Given the description of an element on the screen output the (x, y) to click on. 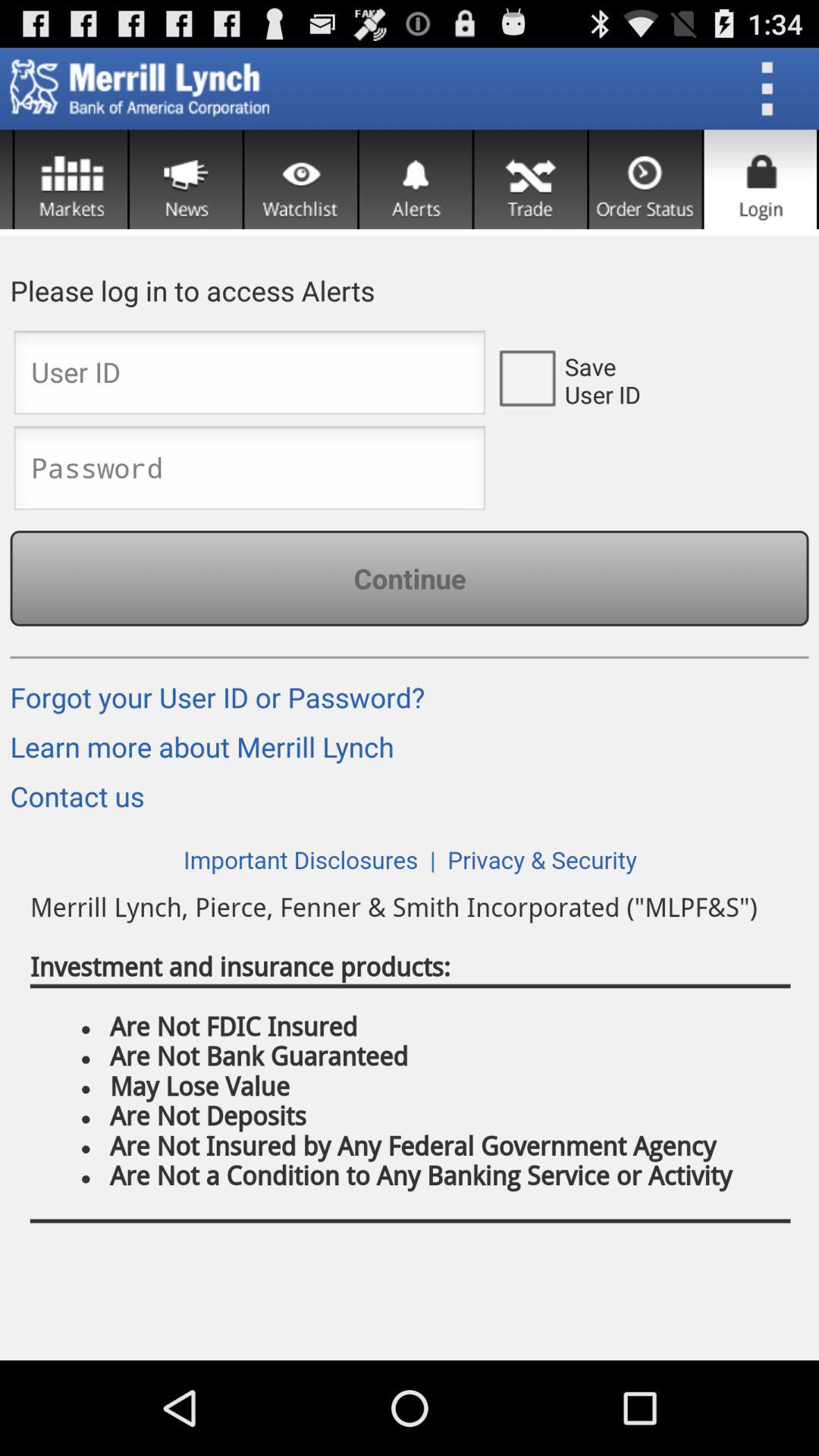
trade button (530, 179)
